Given the description of an element on the screen output the (x, y) to click on. 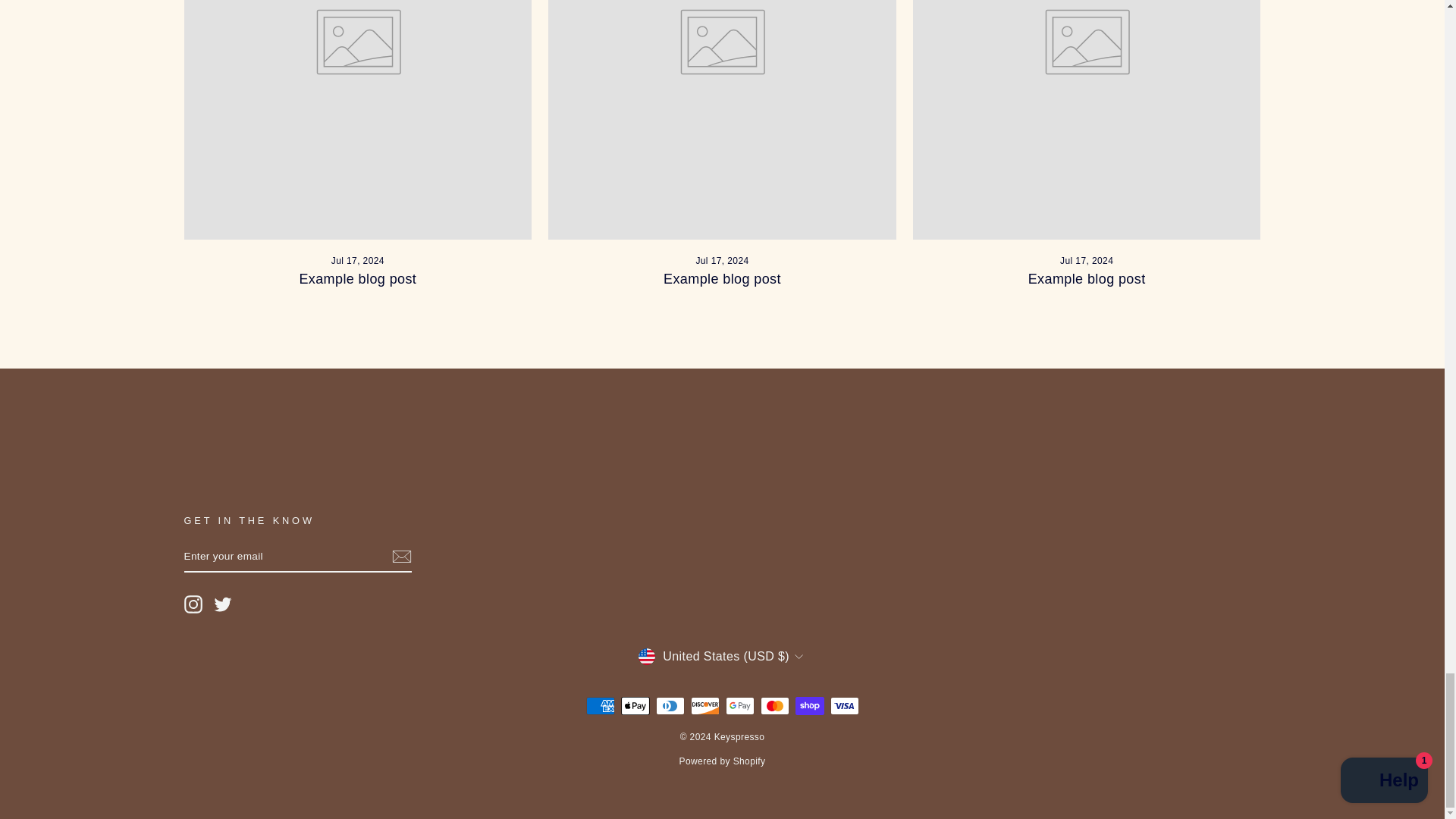
Keyspresso on Twitter (222, 604)
icon-email (400, 556)
Keyspresso on Instagram (192, 604)
instagram (192, 604)
